Given the description of an element on the screen output the (x, y) to click on. 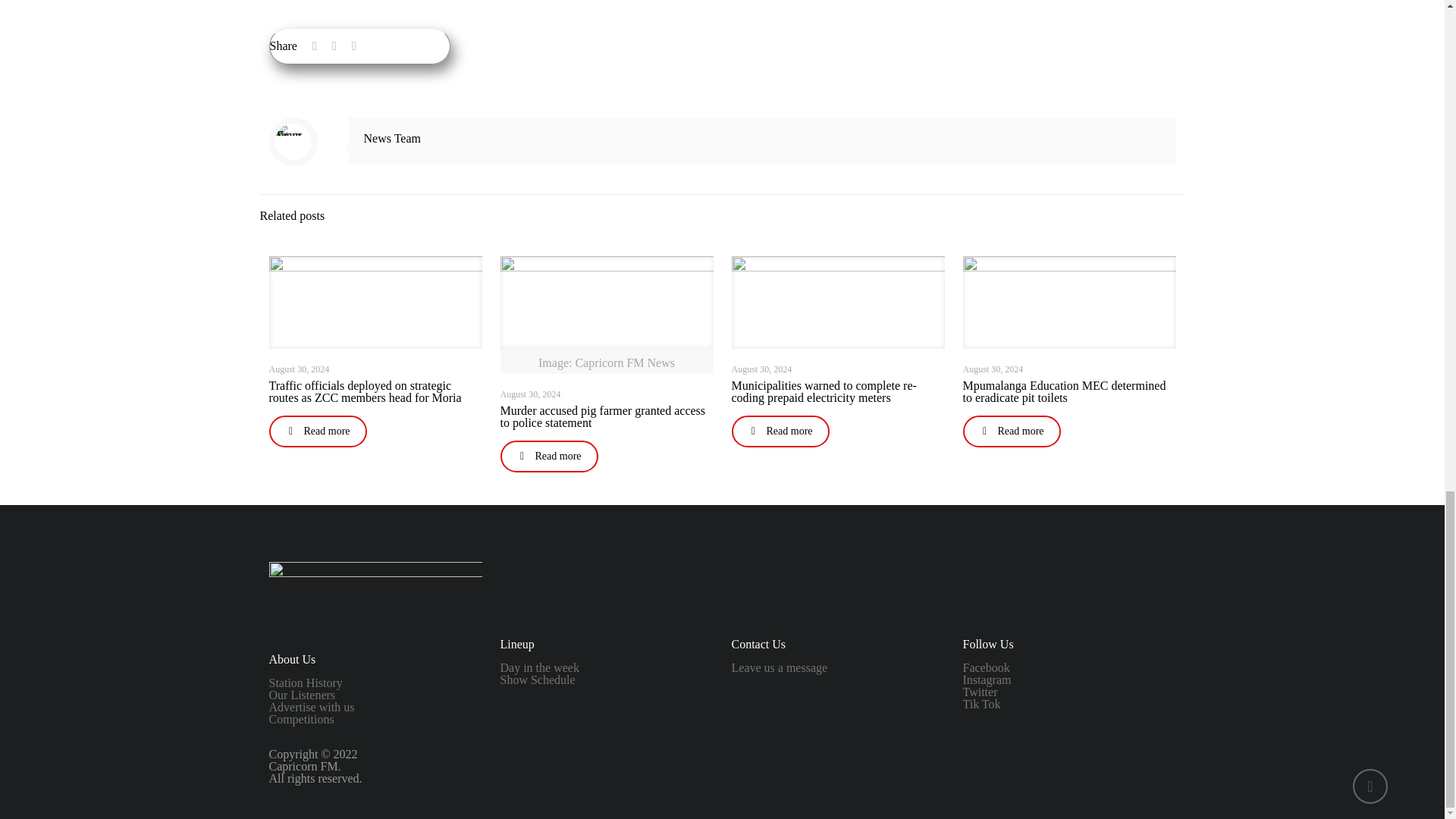
News Team (392, 137)
Murder accused pig farmer granted access to police statement (603, 416)
Read more (549, 456)
Read more (316, 431)
